Given the description of an element on the screen output the (x, y) to click on. 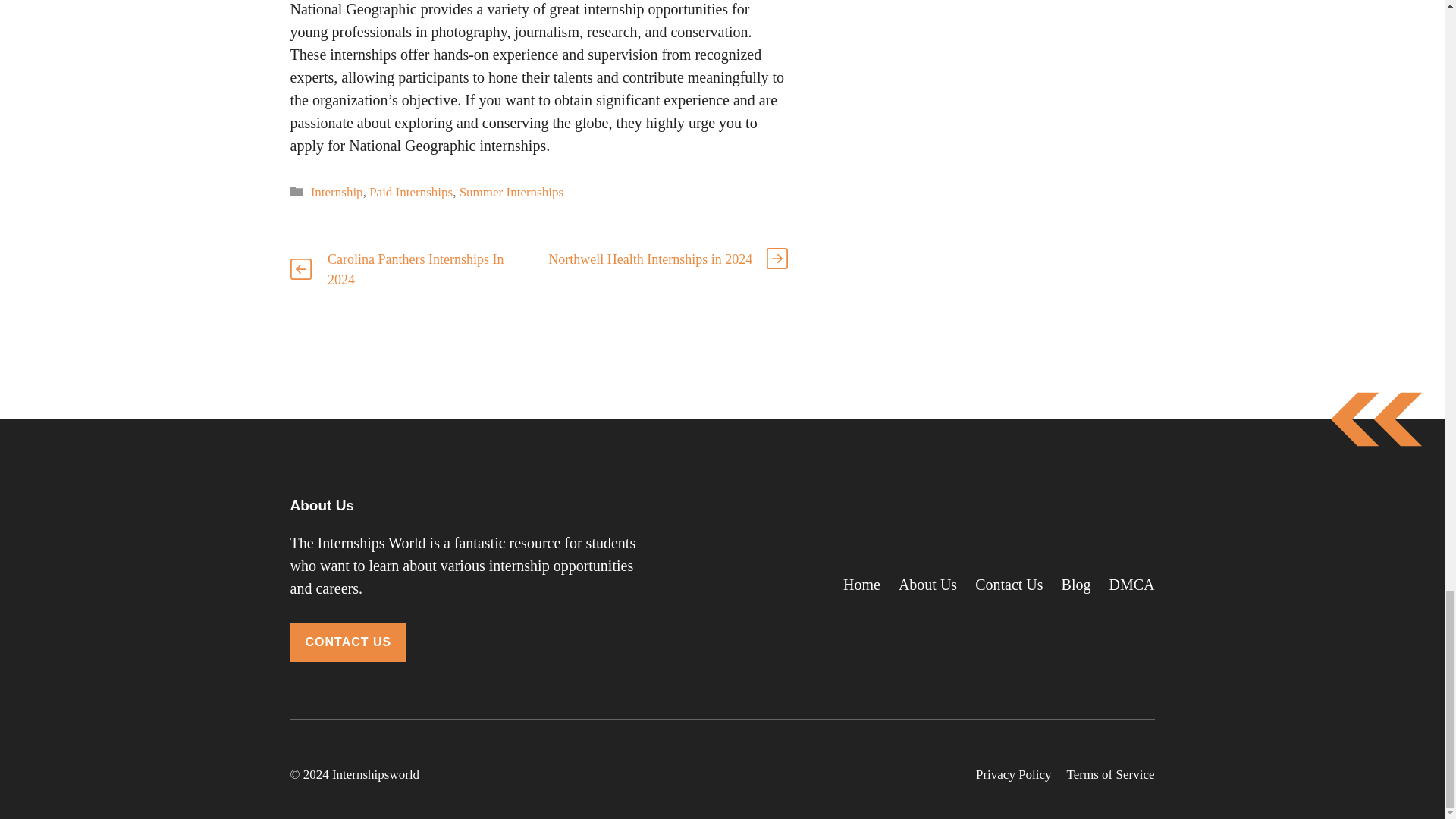
Blog (1075, 583)
Home (861, 583)
Summer Internships (511, 192)
Contact Us (1008, 583)
CONTACT US (347, 641)
Privacy Policy (1013, 774)
Northwell Health Internships in 2024 (650, 258)
Internship (336, 192)
Paid Internships (410, 192)
DMCA (1131, 583)
